Given the description of an element on the screen output the (x, y) to click on. 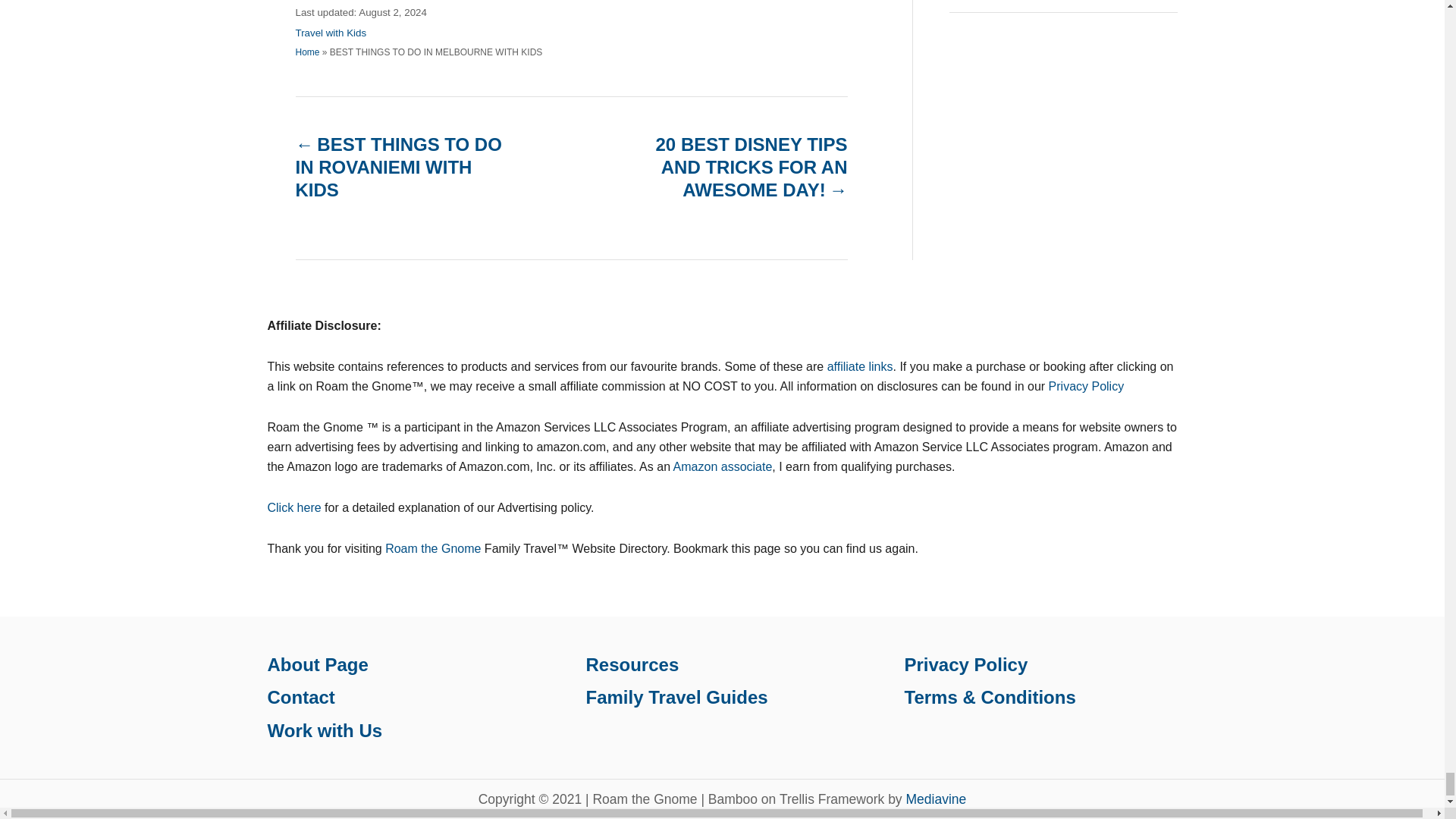
Family Travel Guides (676, 697)
Contact (300, 697)
Privacy Policy (965, 664)
Resources (631, 664)
About Page (317, 664)
Work with Us (323, 730)
